Given the description of an element on the screen output the (x, y) to click on. 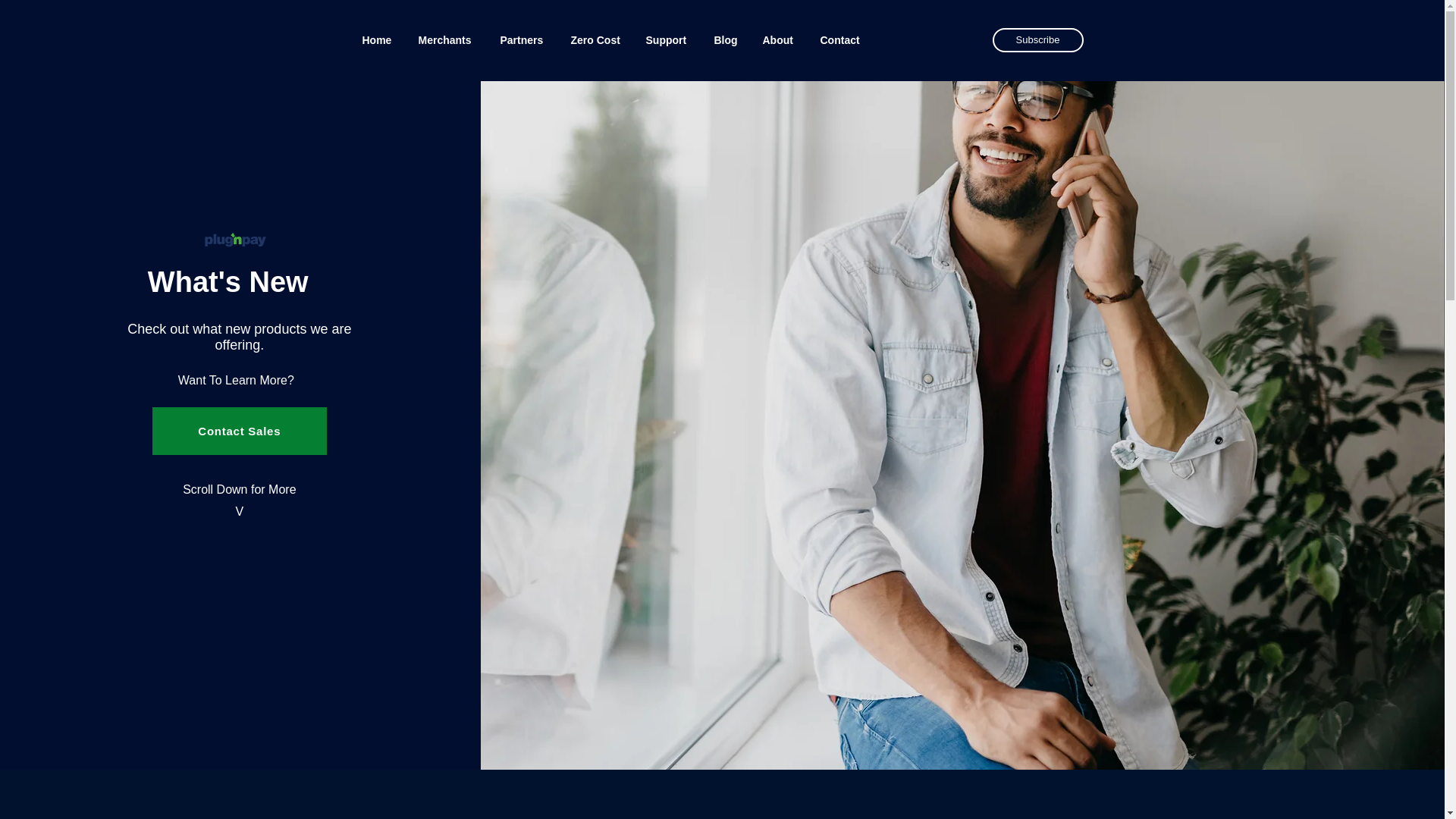
Partners (523, 39)
Zero Cost (596, 39)
Home (378, 39)
Blog (726, 39)
Merchants (446, 39)
Support (667, 39)
About (779, 39)
Contact Sales (239, 431)
Subscribe (1037, 39)
Contact (841, 39)
